Given the description of an element on the screen output the (x, y) to click on. 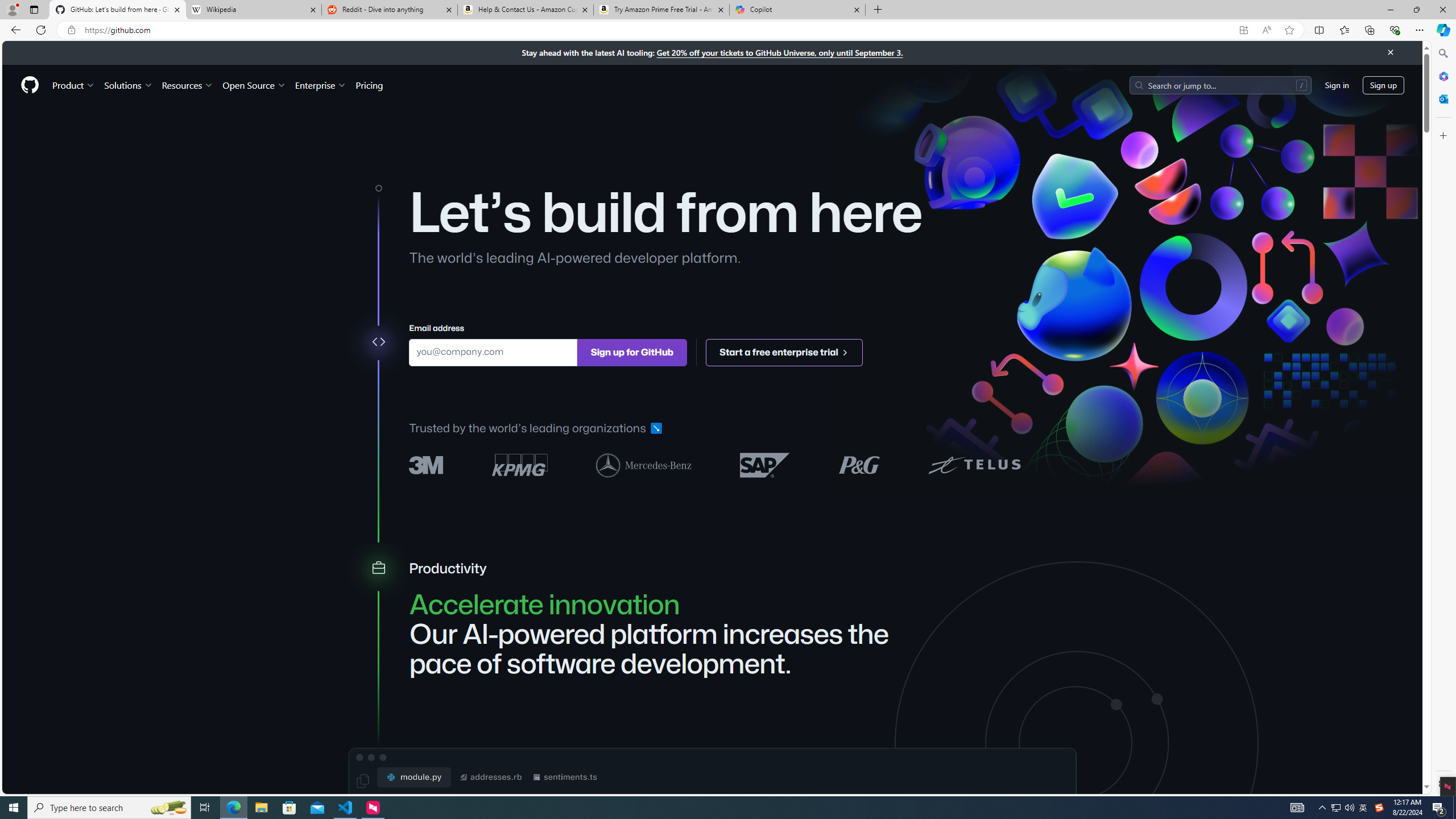
Product (74, 84)
Start a free enterprise trial  (784, 352)
Sign up for GitHub (631, 352)
Copilot (797, 9)
